Given the description of an element on the screen output the (x, y) to click on. 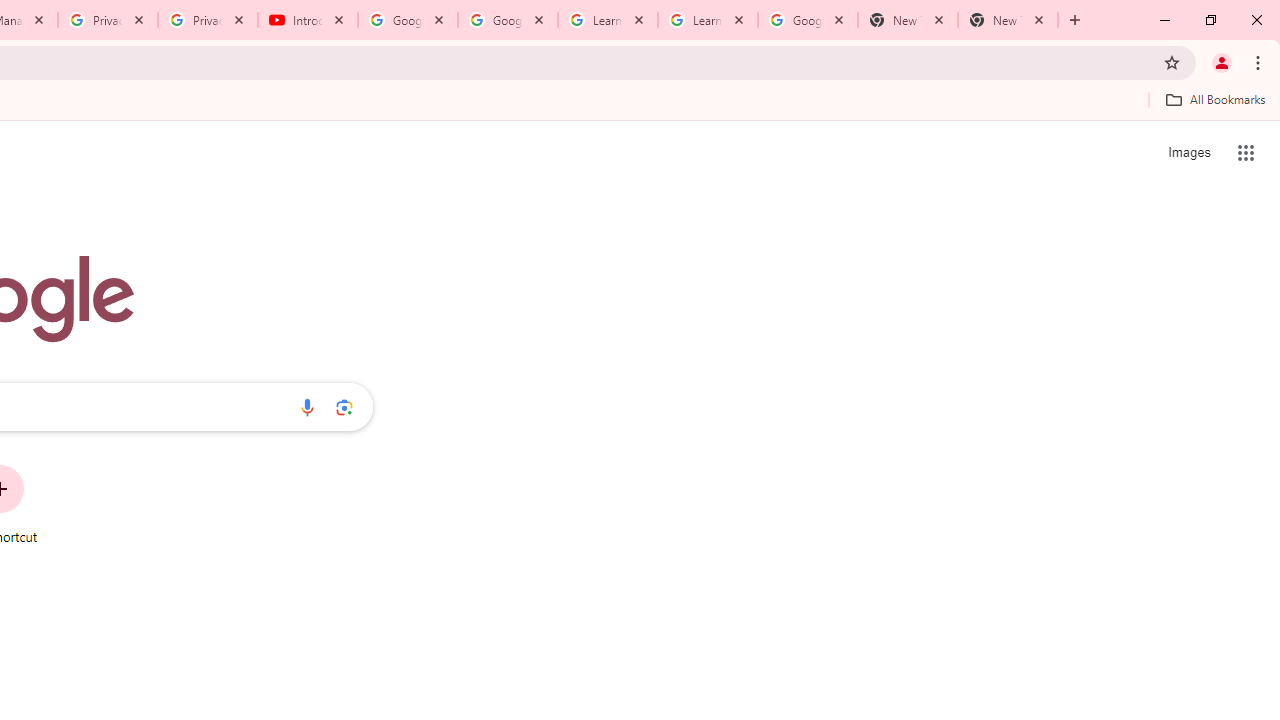
Introduction | Google Privacy Policy - YouTube (308, 20)
Search for Images  (1188, 152)
Google Account (807, 20)
Search by image (344, 407)
All Bookmarks (1215, 99)
